Given the description of an element on the screen output the (x, y) to click on. 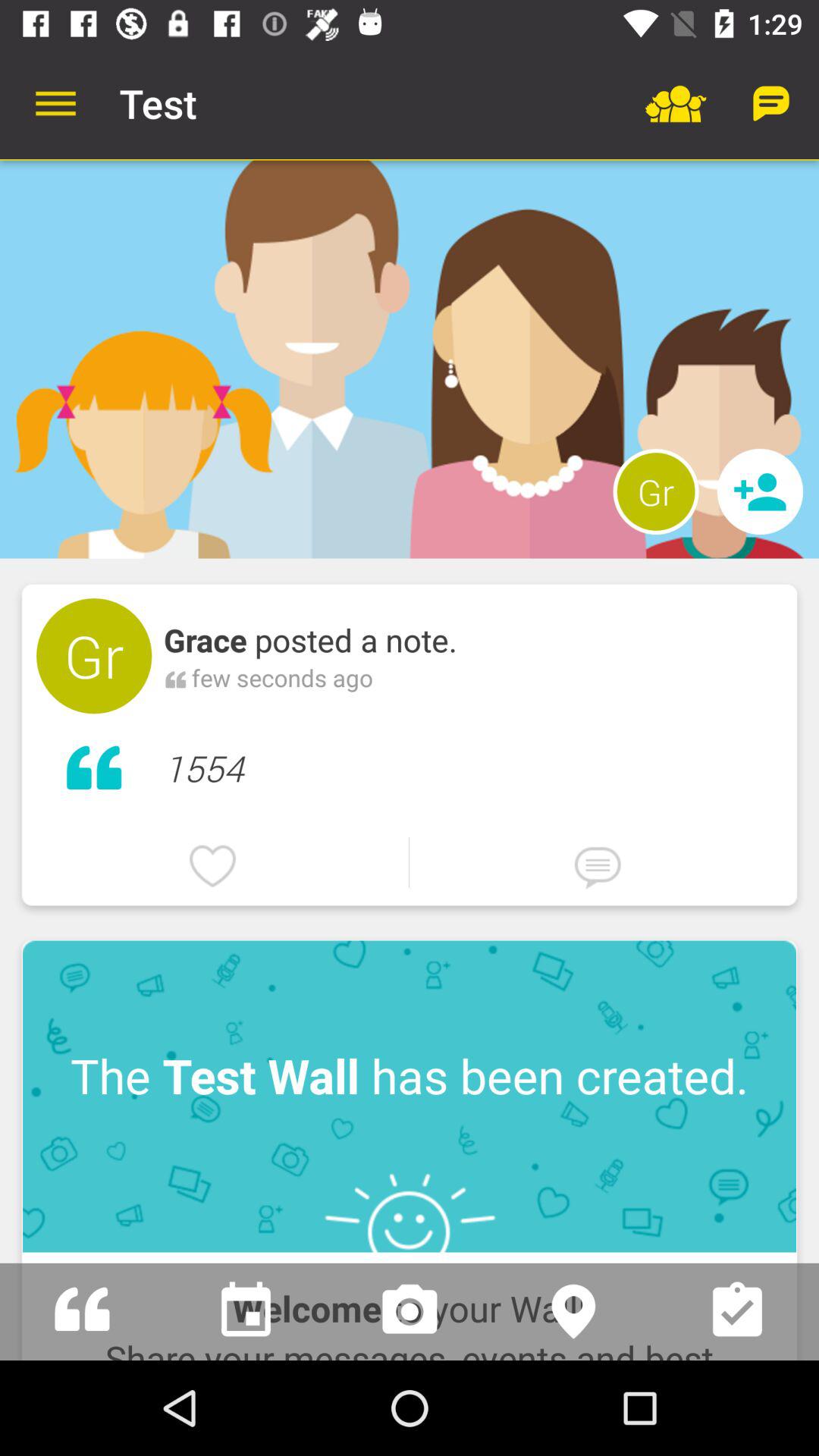
choose the icon below the few seconds ago (472, 764)
